Given the description of an element on the screen output the (x, y) to click on. 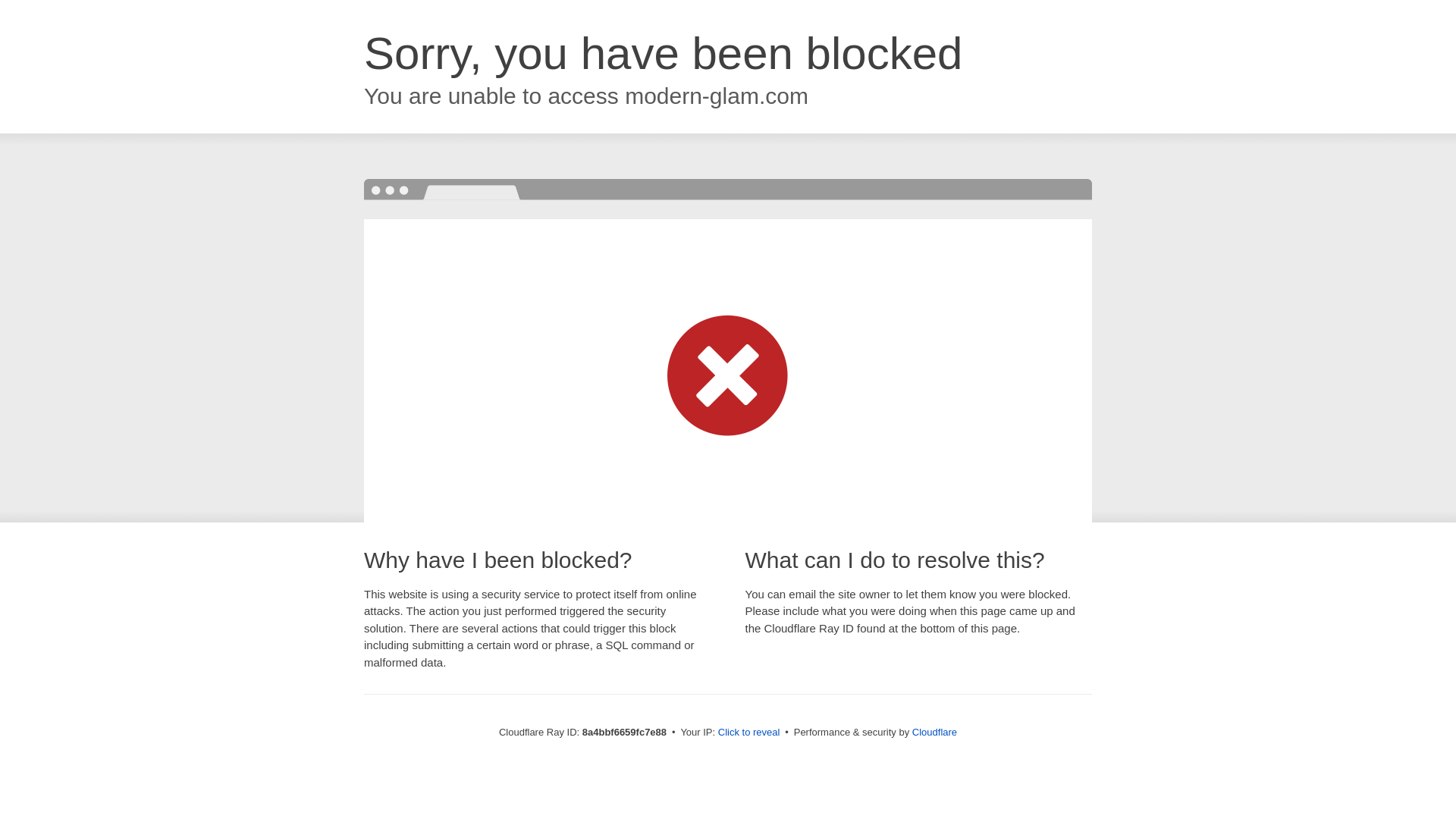
Click to reveal (748, 732)
Cloudflare (934, 731)
